Given the description of an element on the screen output the (x, y) to click on. 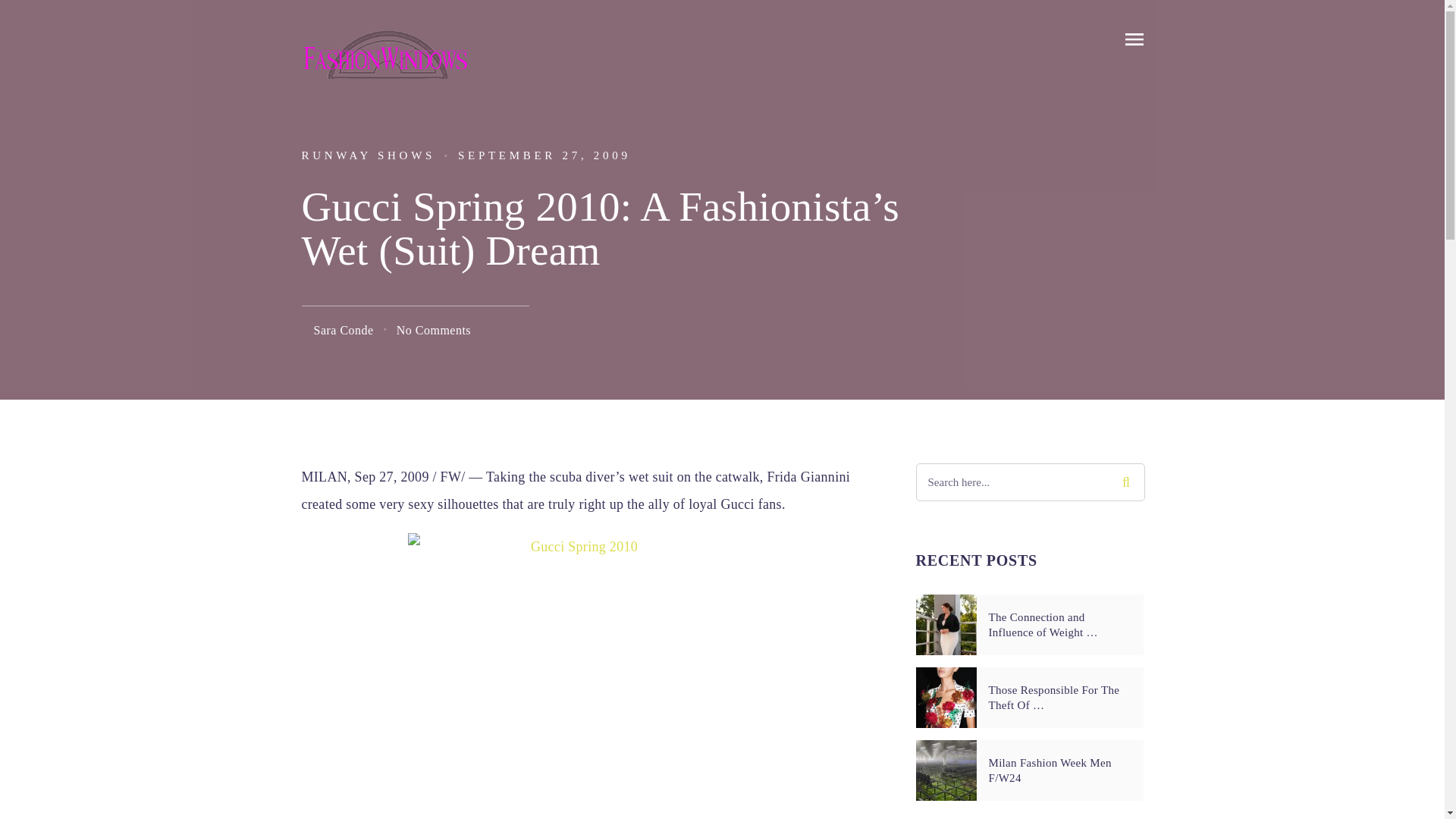
Posts by Sara Conde (344, 329)
Gucci Spring 2010 (578, 676)
RUNWAY SHOWS (368, 155)
View all posts in Runway Shows (368, 155)
No Comments (433, 329)
Sara Conde (344, 329)
